Given the description of an element on the screen output the (x, y) to click on. 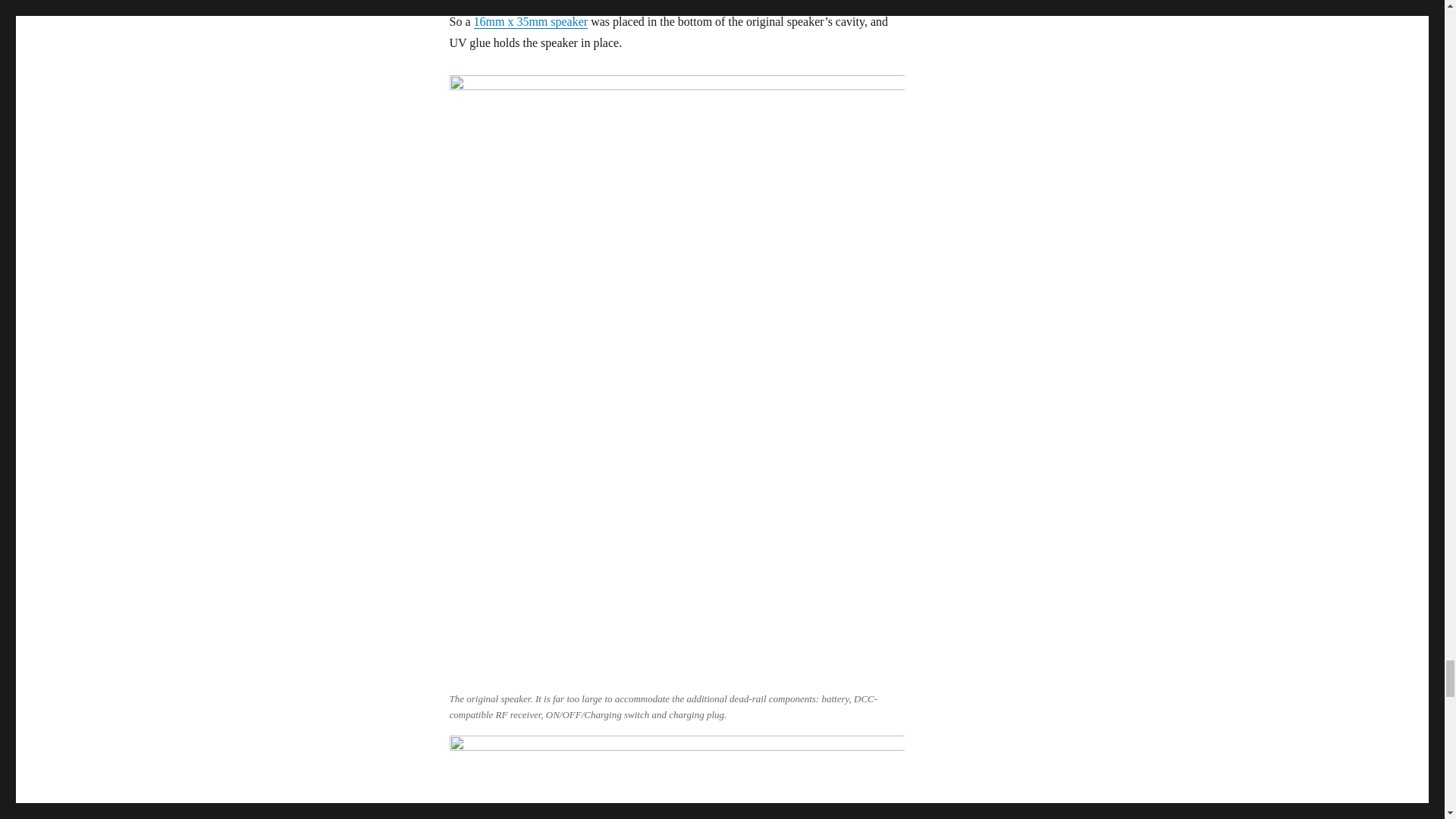
16mm x 35mm speaker (530, 21)
